Given the description of an element on the screen output the (x, y) to click on. 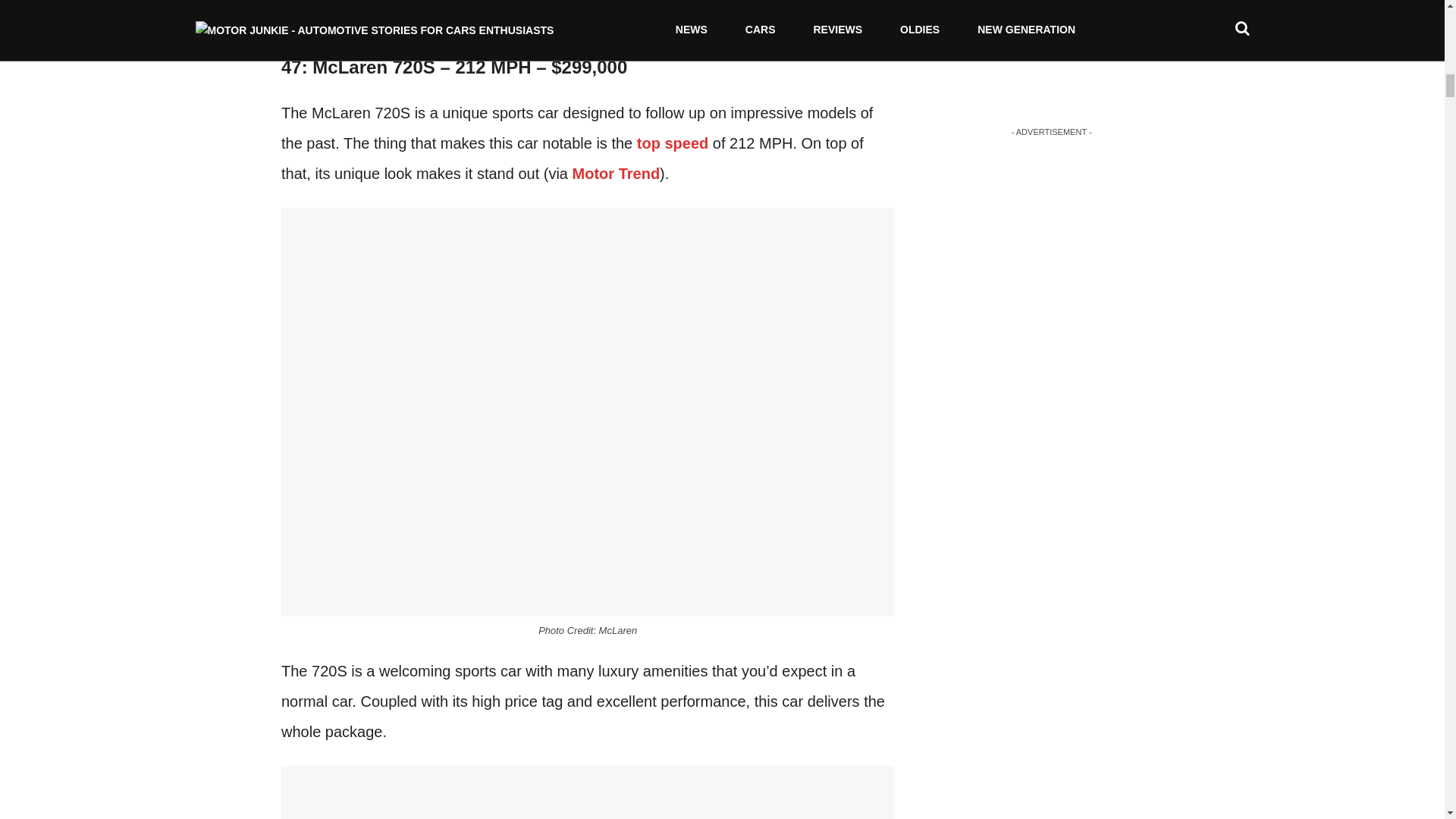
Motor Trend (616, 173)
top speed (672, 143)
